Given the description of an element on the screen output the (x, y) to click on. 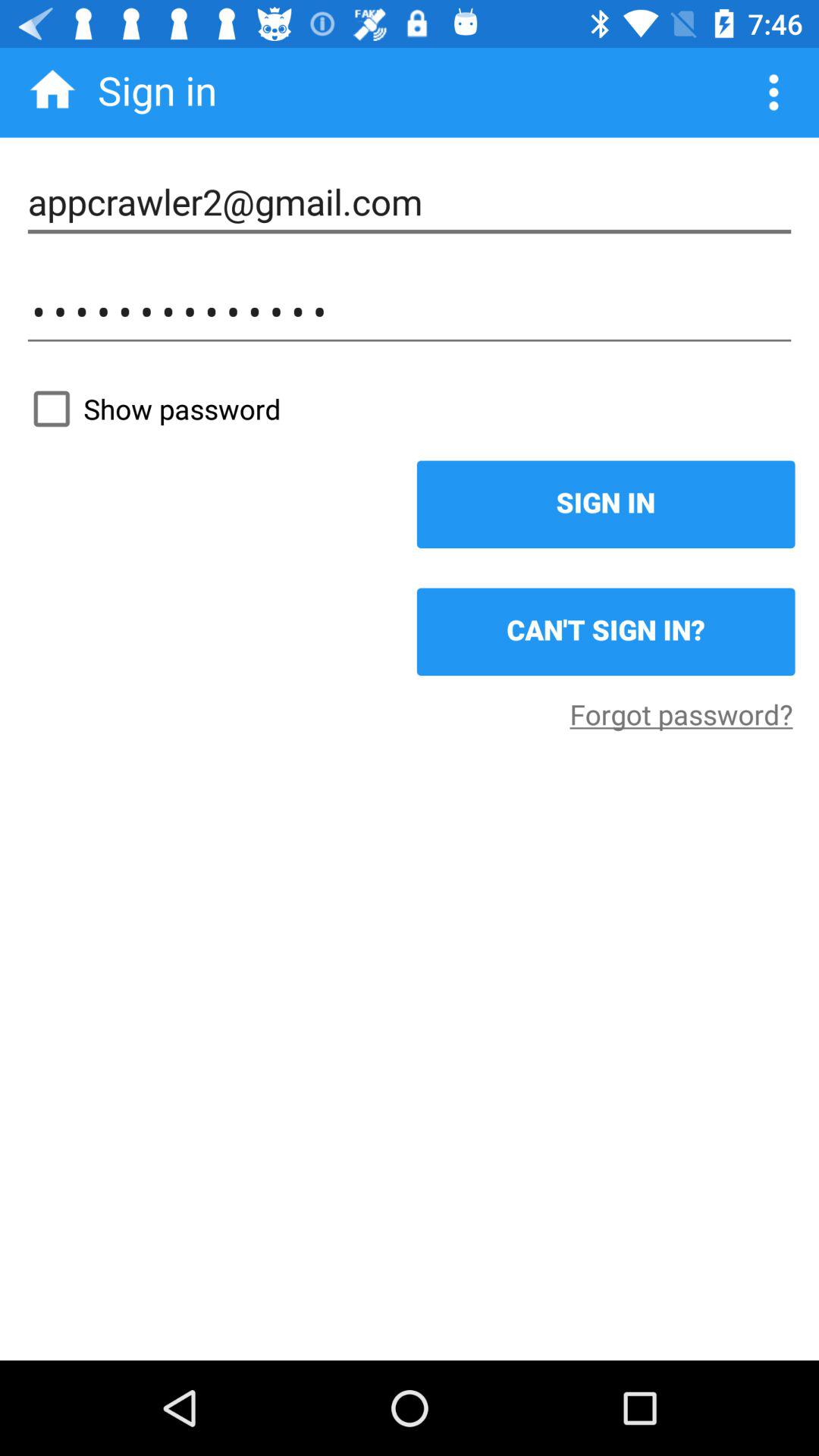
turn off appcrawler3116 icon (409, 312)
